Given the description of an element on the screen output the (x, y) to click on. 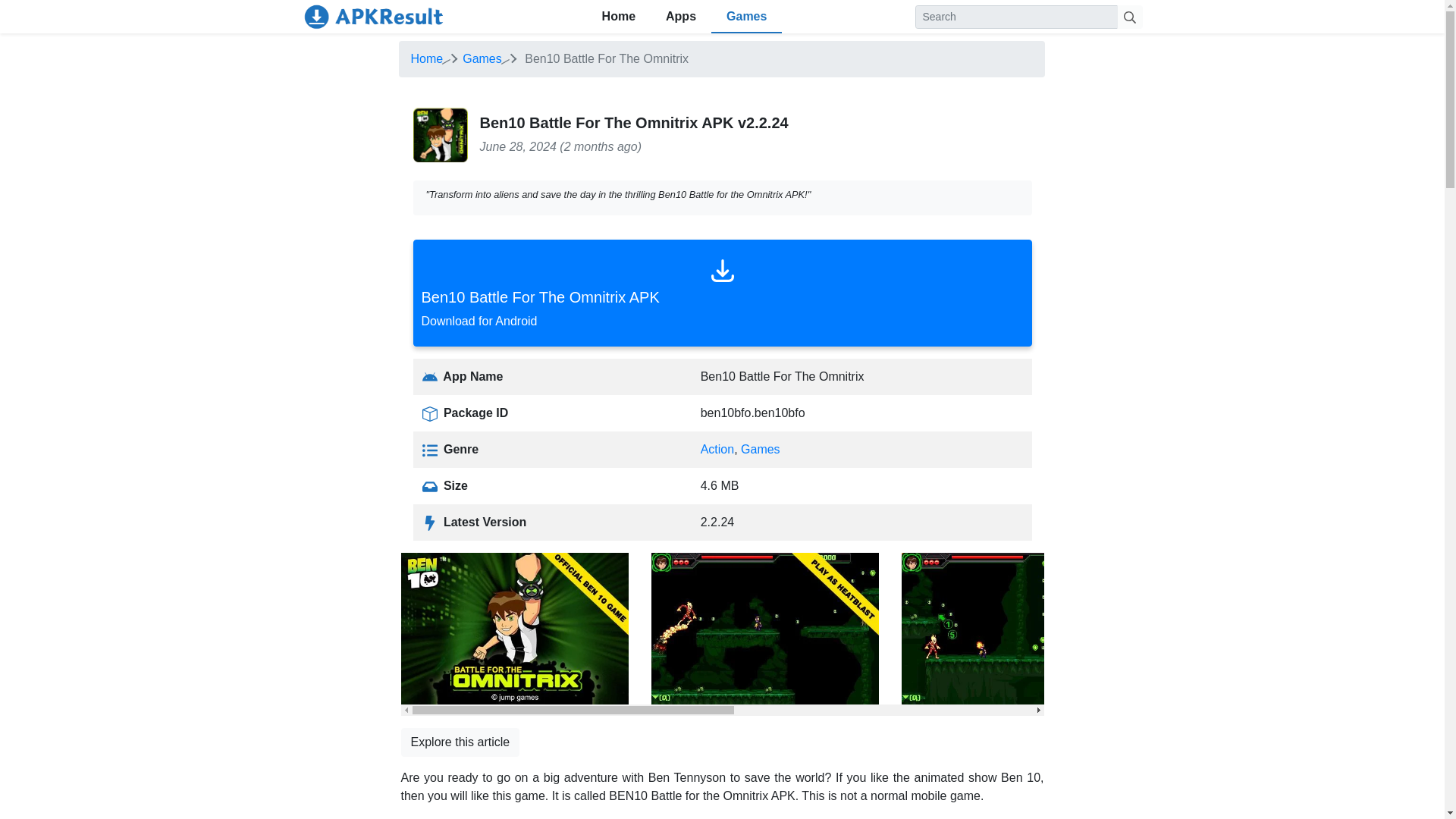
Home (618, 16)
Games (746, 16)
Games (482, 58)
Action (716, 449)
Games (760, 449)
Apps (680, 16)
Home (427, 58)
Explore this article (721, 292)
